Given the description of an element on the screen output the (x, y) to click on. 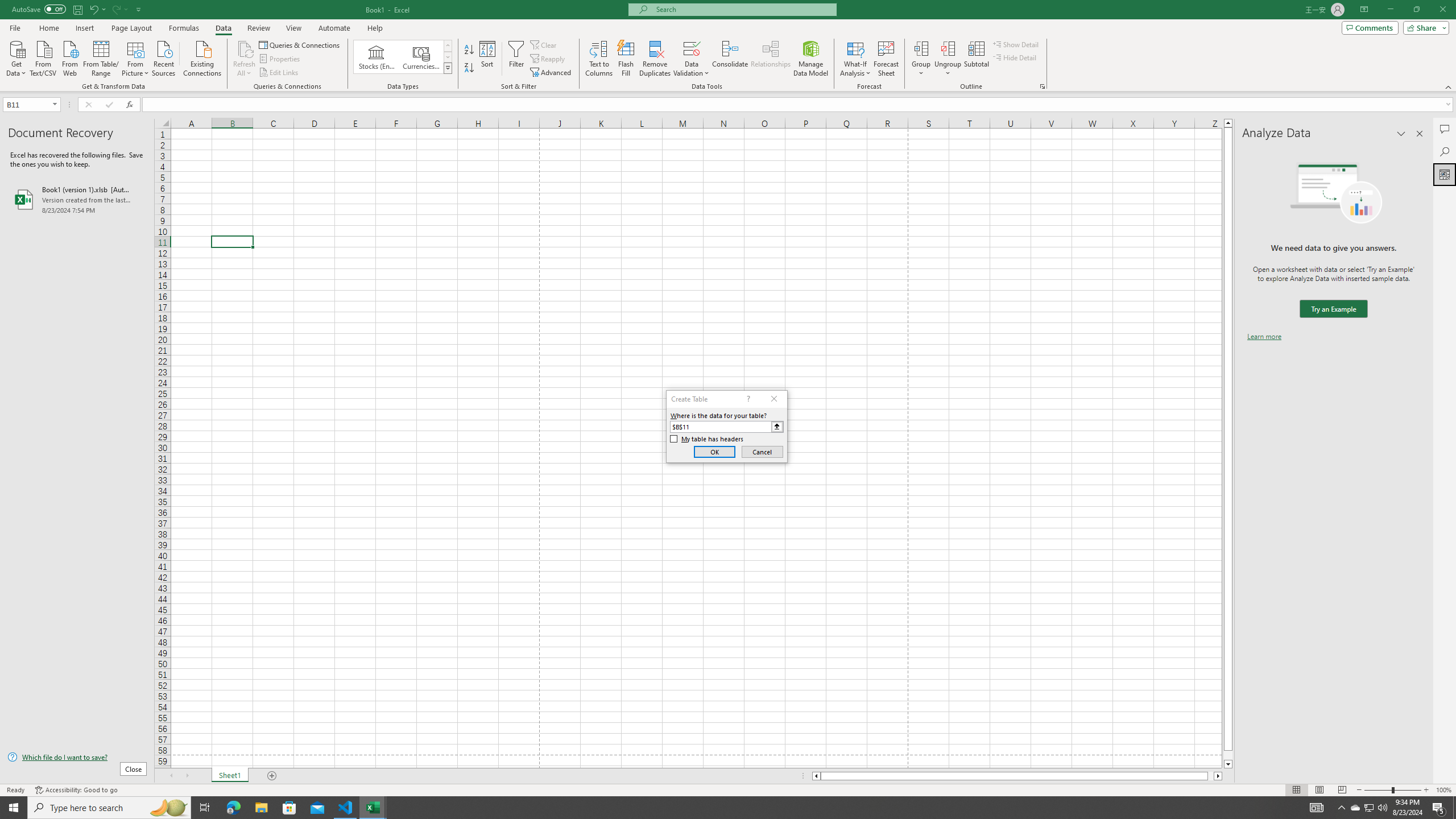
Group... (921, 48)
Save (77, 9)
Properties (280, 58)
Stocks (English) (375, 56)
Accessibility Checker Accessibility: Good to go (76, 790)
Clear (544, 44)
Task Pane Options (1400, 133)
Minimize (1390, 9)
Column left (815, 775)
Data Validation... (691, 58)
Refresh All (244, 58)
Existing Connections (202, 57)
